Given the description of an element on the screen output the (x, y) to click on. 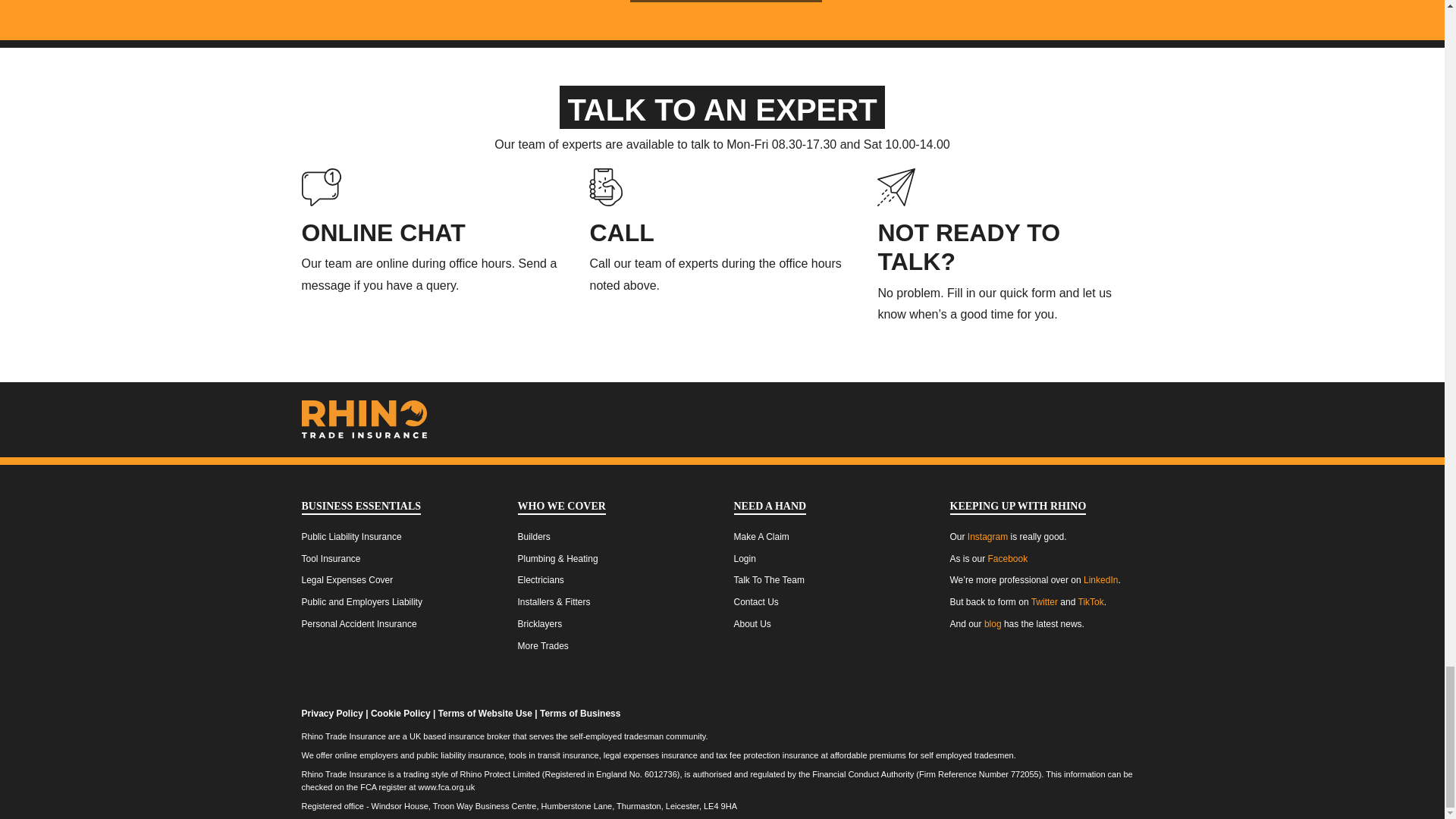
Phone (621, 232)
Terms of Business (580, 713)
Not Ready To Buy (896, 185)
Not Ready To Buy (968, 247)
Online (383, 232)
